Given the description of an element on the screen output the (x, y) to click on. 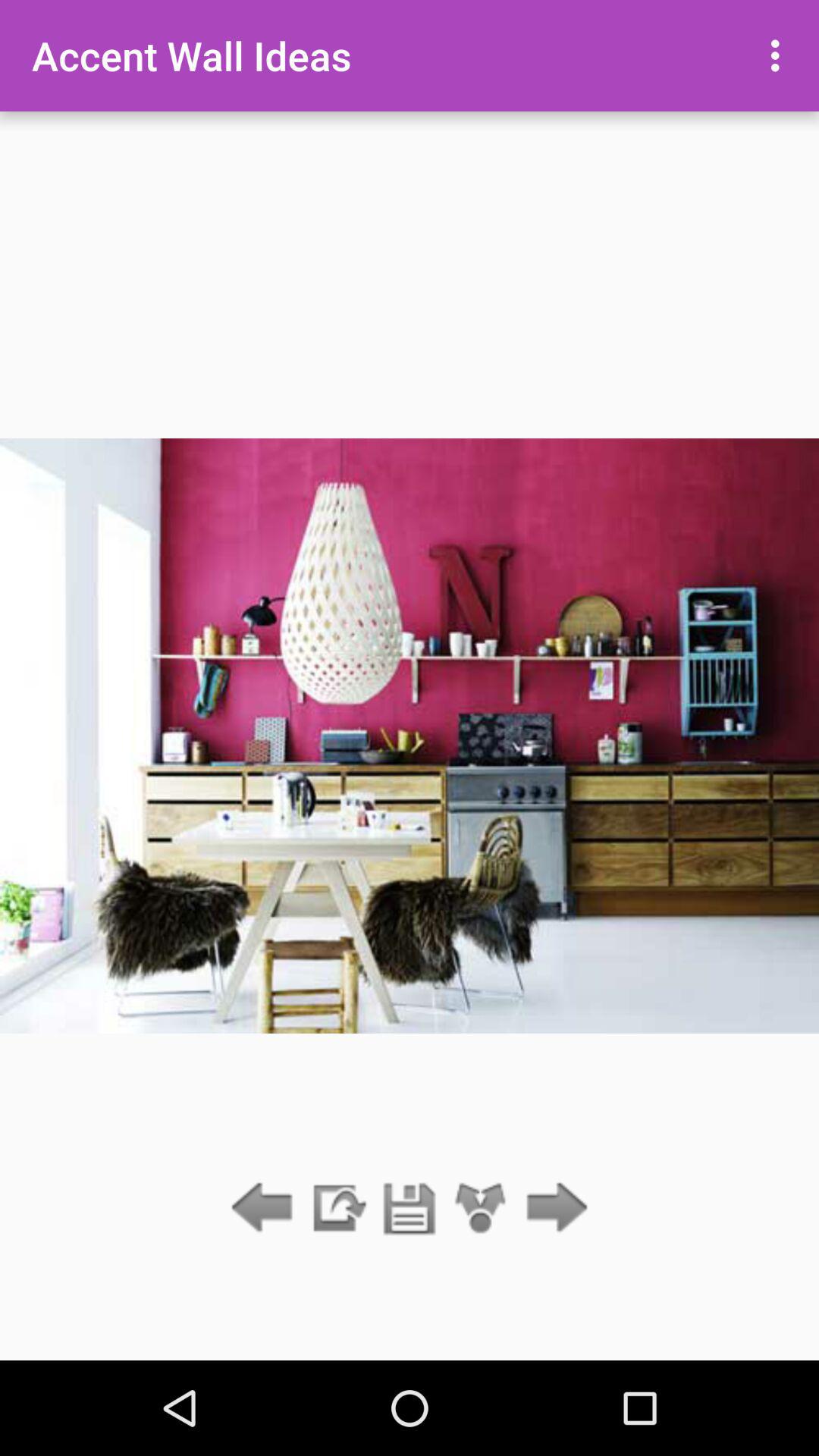
next arrove icone (552, 1209)
